Given the description of an element on the screen output the (x, y) to click on. 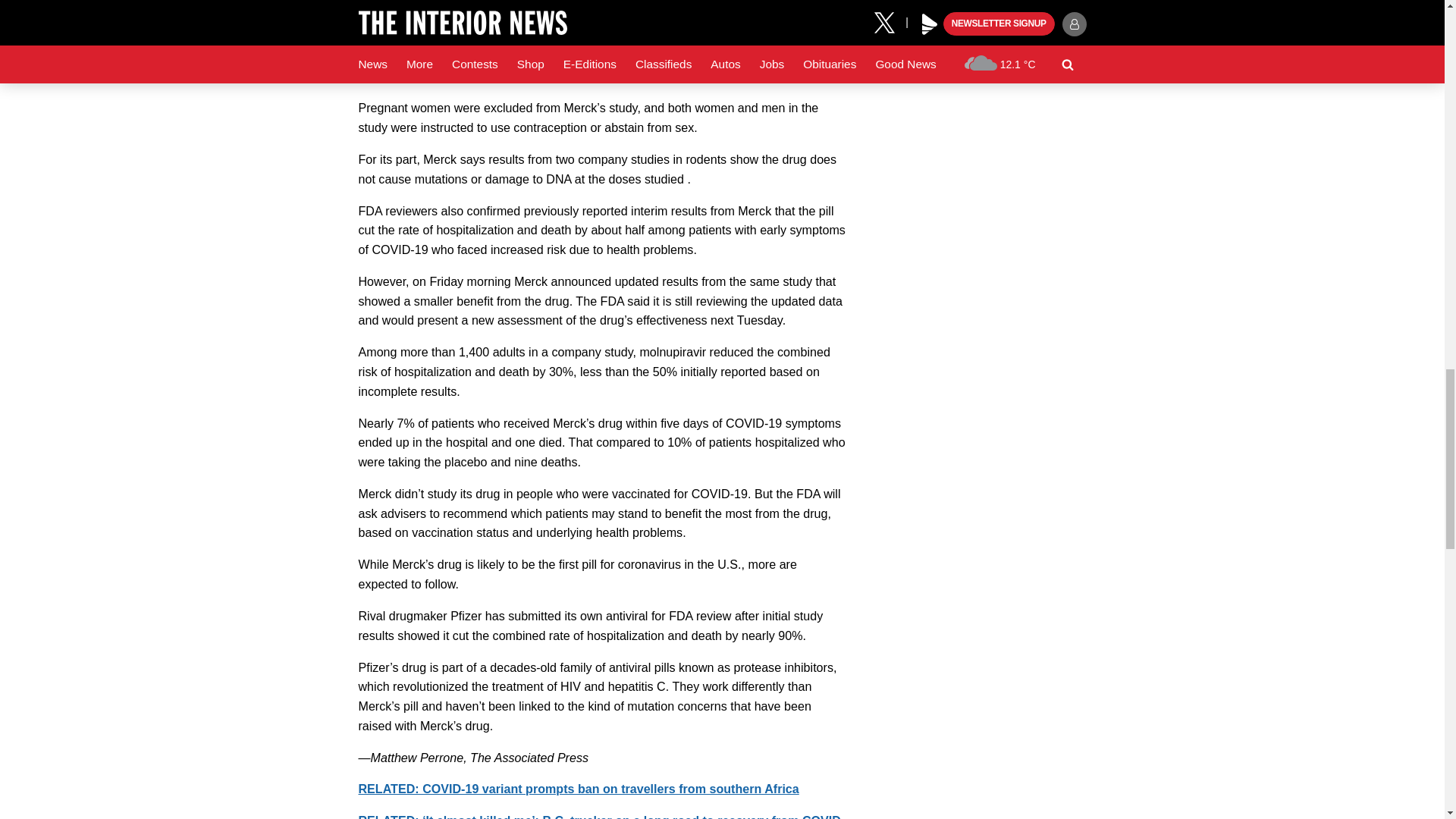
related story (577, 788)
